Given the description of an element on the screen output the (x, y) to click on. 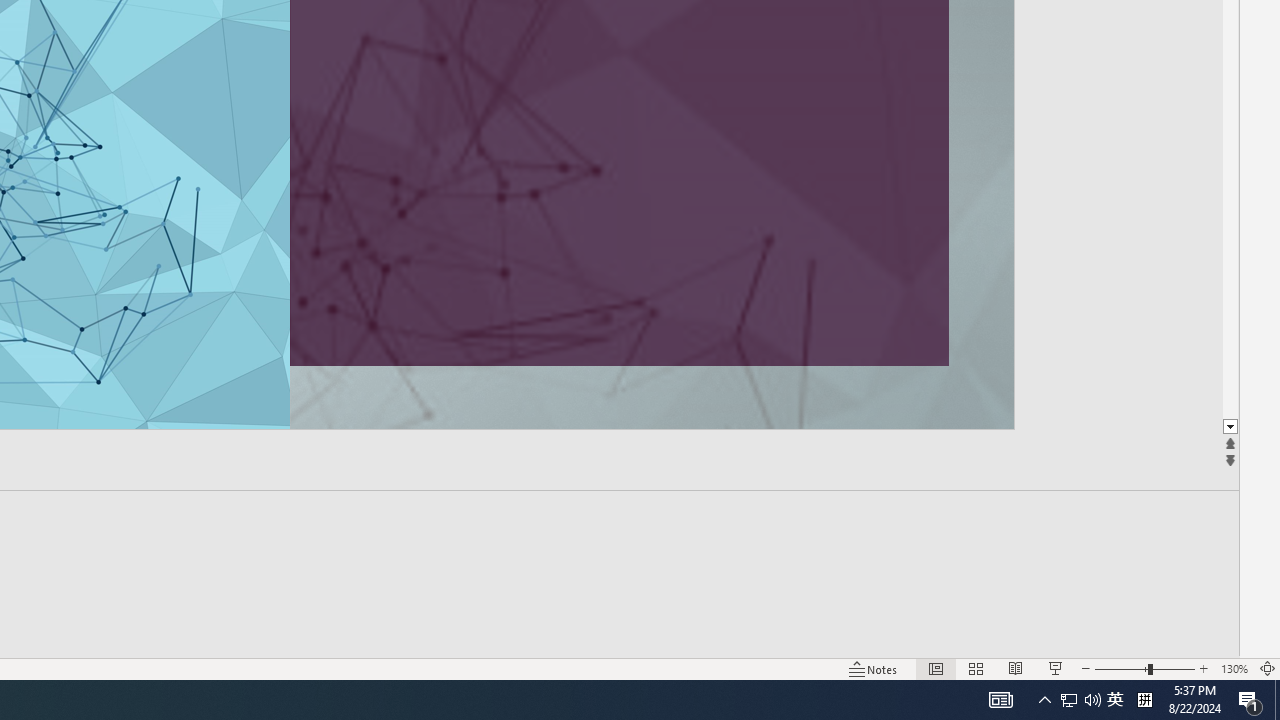
Zoom 130% (1234, 668)
